Given the description of an element on the screen output the (x, y) to click on. 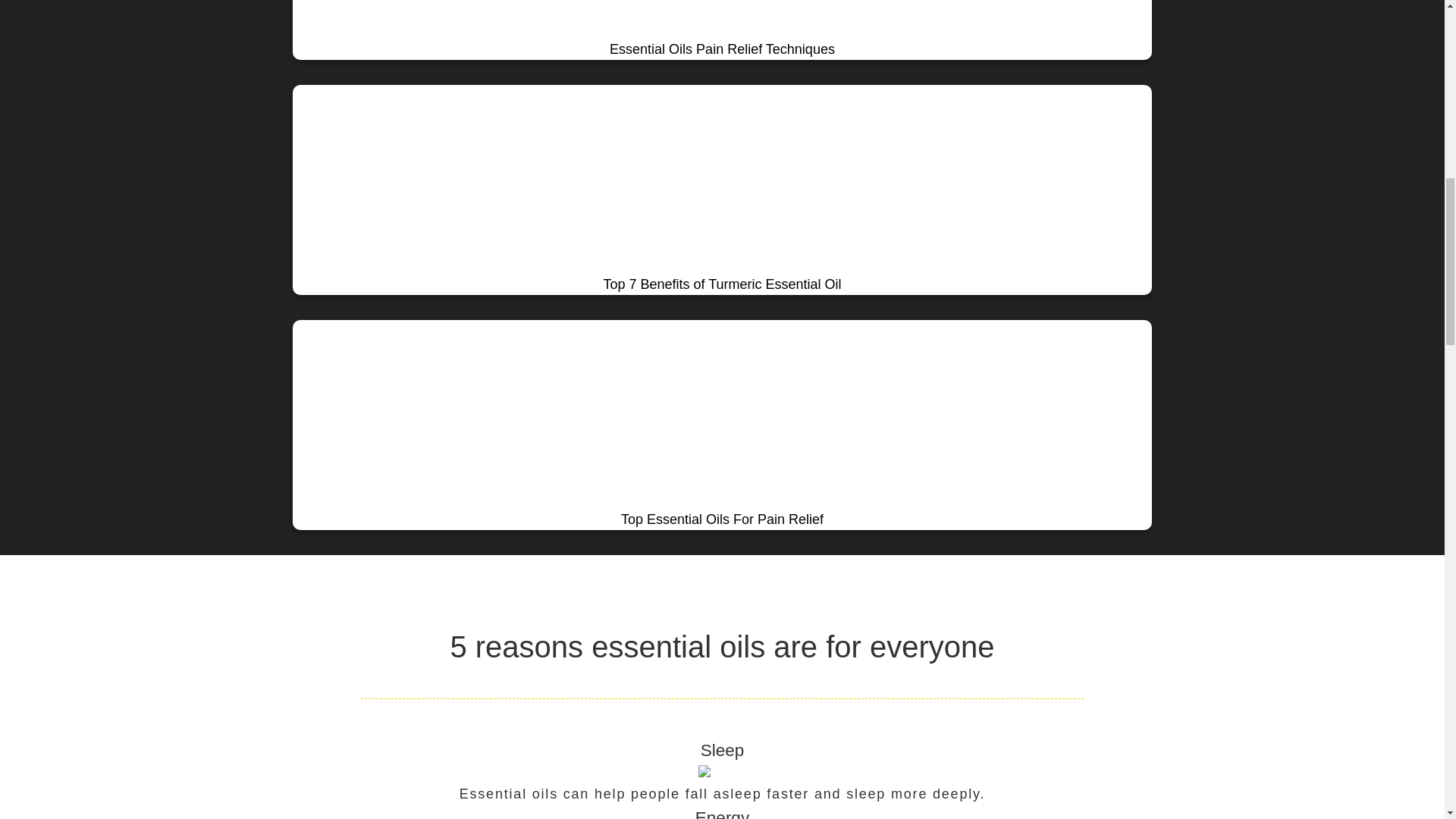
Essential Oils Pain Relief Techniques (721, 29)
